Given the description of an element on the screen output the (x, y) to click on. 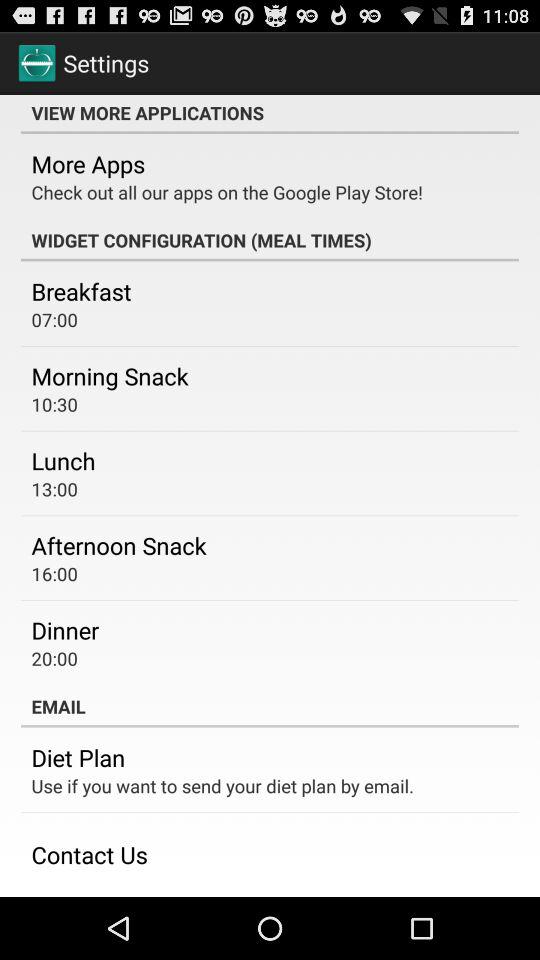
click item above 07:00 item (81, 291)
